Given the description of an element on the screen output the (x, y) to click on. 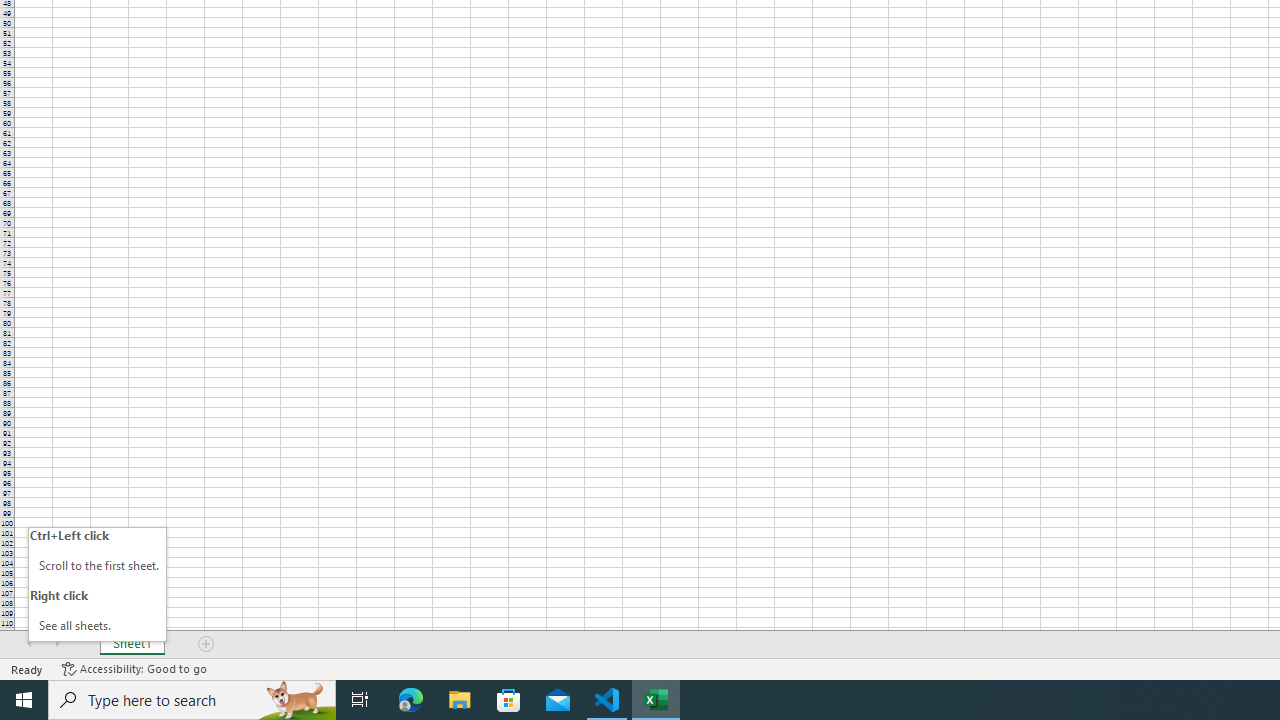
Scroll Left (29, 644)
Scroll Right (57, 644)
Sheet1 (132, 644)
Accessibility Checker Accessibility: Good to go (134, 668)
Add Sheet (207, 644)
